Given the description of an element on the screen output the (x, y) to click on. 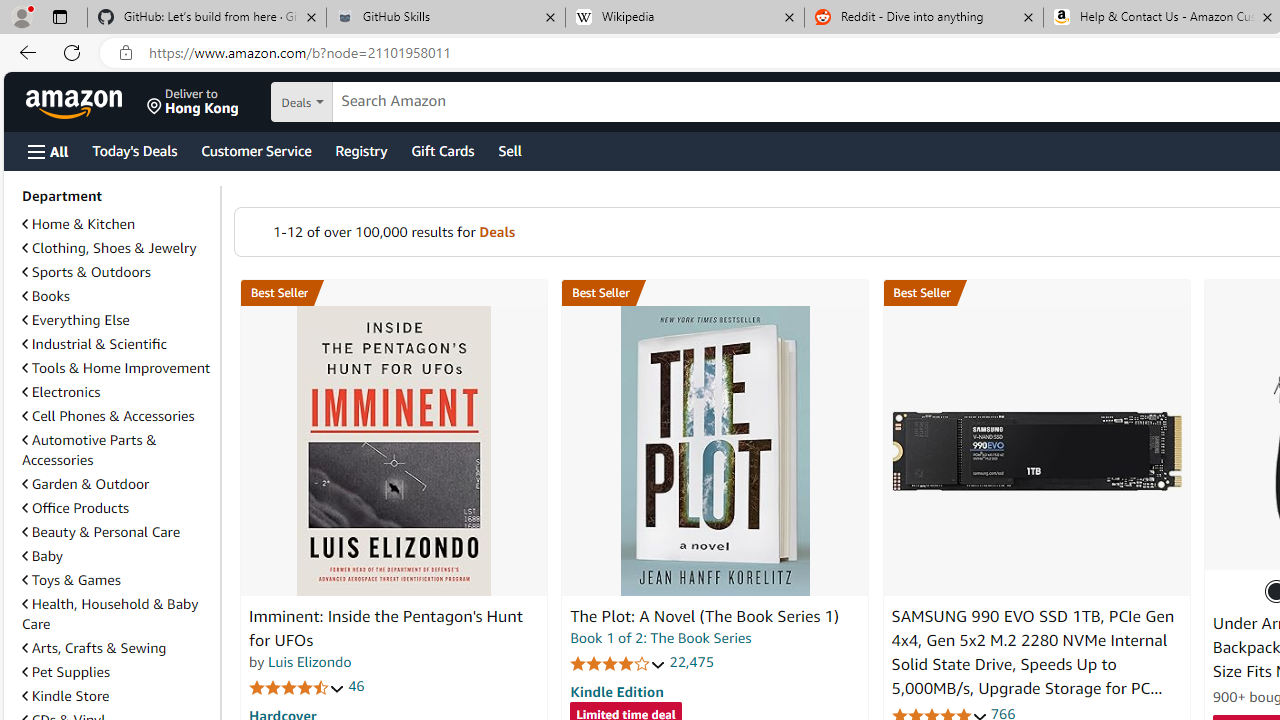
Home & Kitchen (117, 223)
Tools & Home Improvement (117, 367)
Tab actions menu (59, 16)
Customer Service (256, 150)
The Plot: A Novel (The Book Series 1) (714, 451)
Automotive Parts & Accessories (117, 449)
Clothing, Shoes & Jewelry (109, 248)
Refresh (72, 52)
Pet Supplies (65, 672)
Garden & Outdoor (117, 483)
Imminent: Inside the Pentagon's Hunt for UFOs (386, 628)
Books (45, 296)
